Given the description of an element on the screen output the (x, y) to click on. 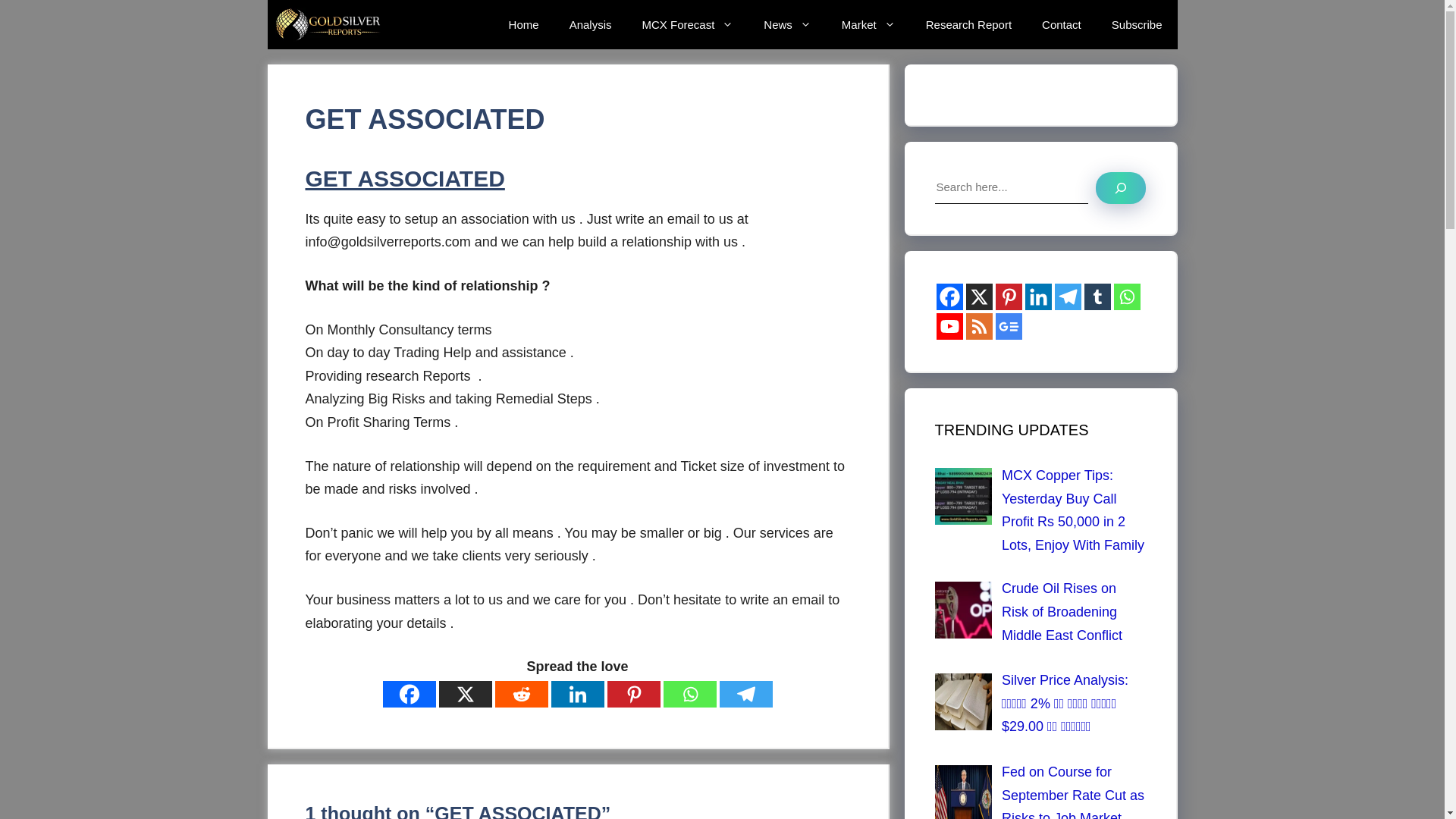
Analysis (590, 24)
Analysis (590, 24)
Home (523, 24)
News (787, 24)
MCX Forecast (687, 24)
Contact (1061, 24)
News (787, 24)
Gold Silver Reports (329, 24)
Subscribe (1136, 24)
MCX Forecast (687, 24)
